Given the description of an element on the screen output the (x, y) to click on. 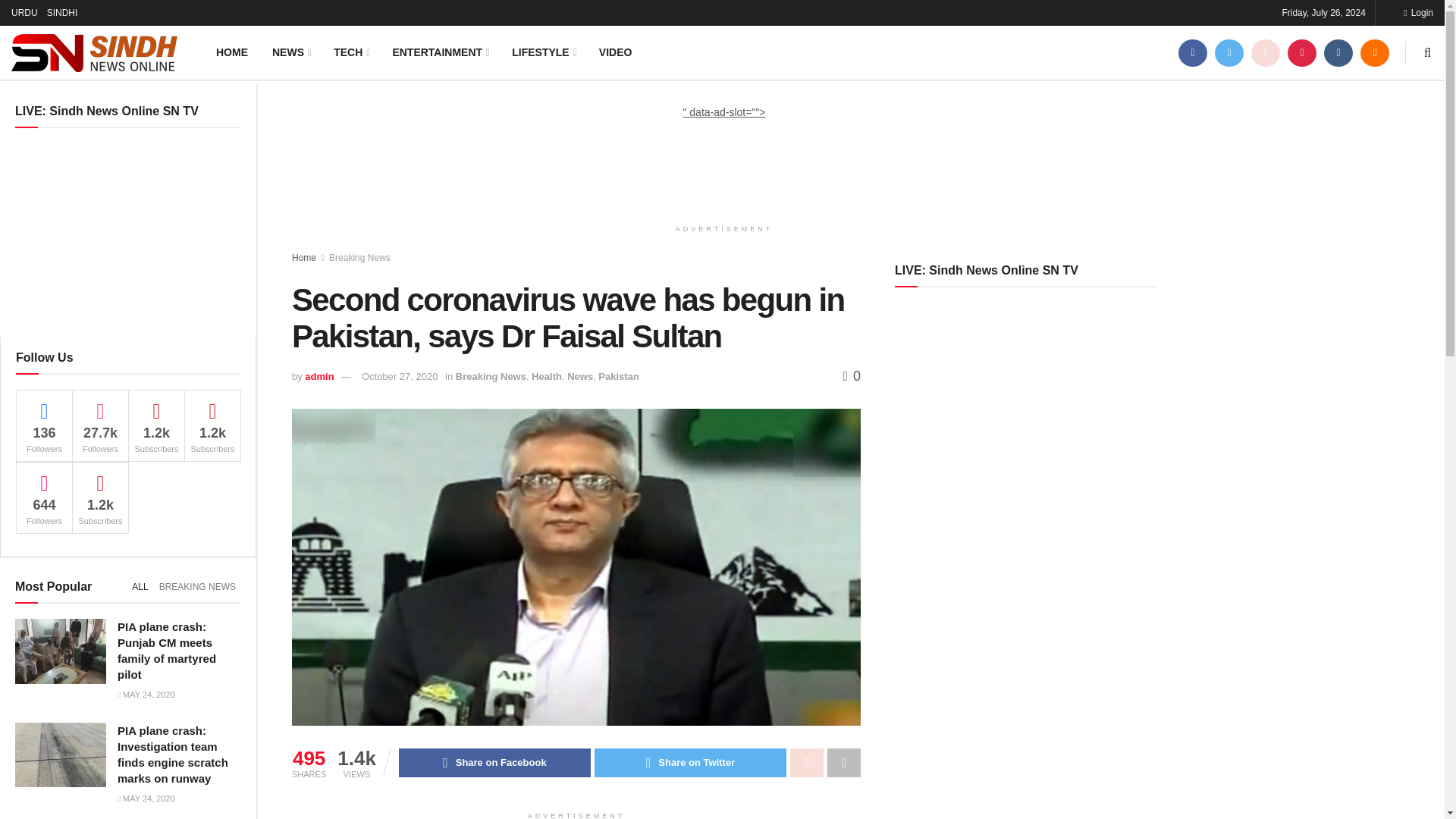
URDU (24, 12)
SINDHI (62, 12)
MAY 24, 2020 (145, 798)
Login (1417, 12)
NEWS (290, 52)
ALL (139, 586)
BREAKING NEWS (197, 586)
HOME (231, 52)
Advertisement (724, 154)
PIA plane crash: Punjab CM meets family of martyred pilot (166, 649)
MAY 24, 2020 (145, 694)
